Given the description of an element on the screen output the (x, y) to click on. 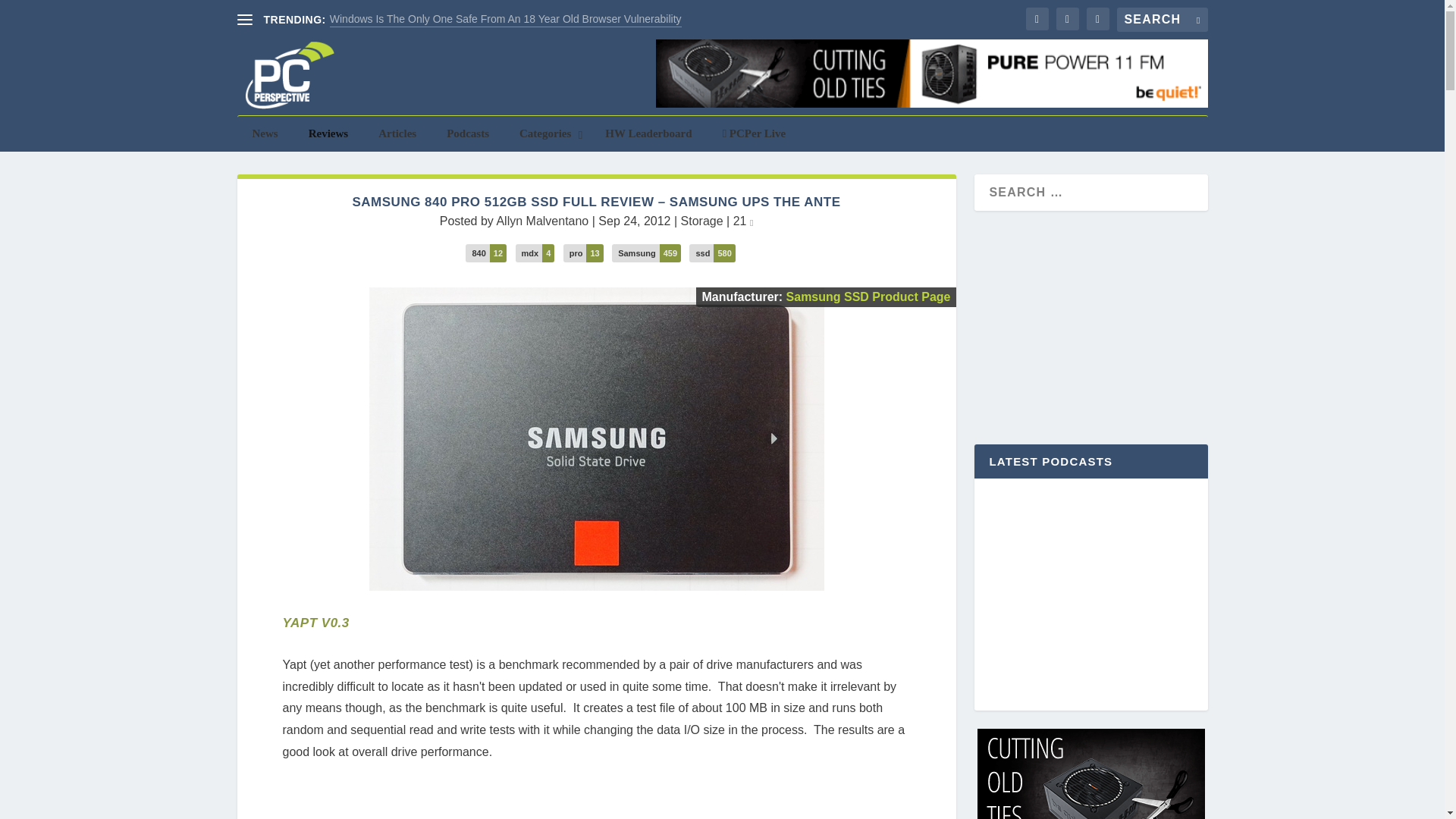
Search for: (1161, 19)
HW Leaderboard (647, 133)
Articles (396, 133)
PCPer Live (754, 133)
Categories (546, 133)
News (263, 133)
Podcasts (466, 133)
Reviews (329, 133)
